Given the description of an element on the screen output the (x, y) to click on. 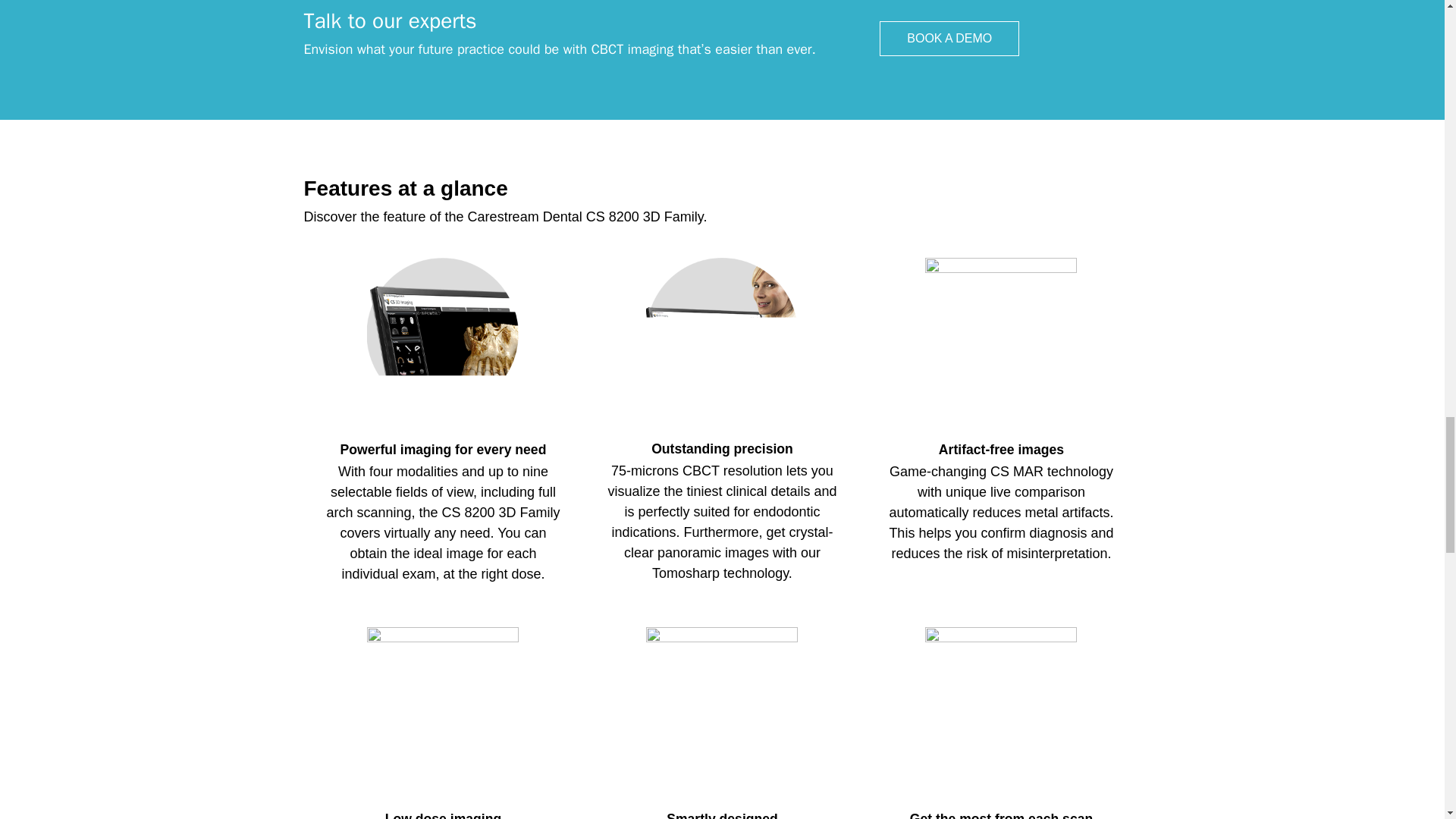
BOOK A DEMO (949, 38)
